Given the description of an element on the screen output the (x, y) to click on. 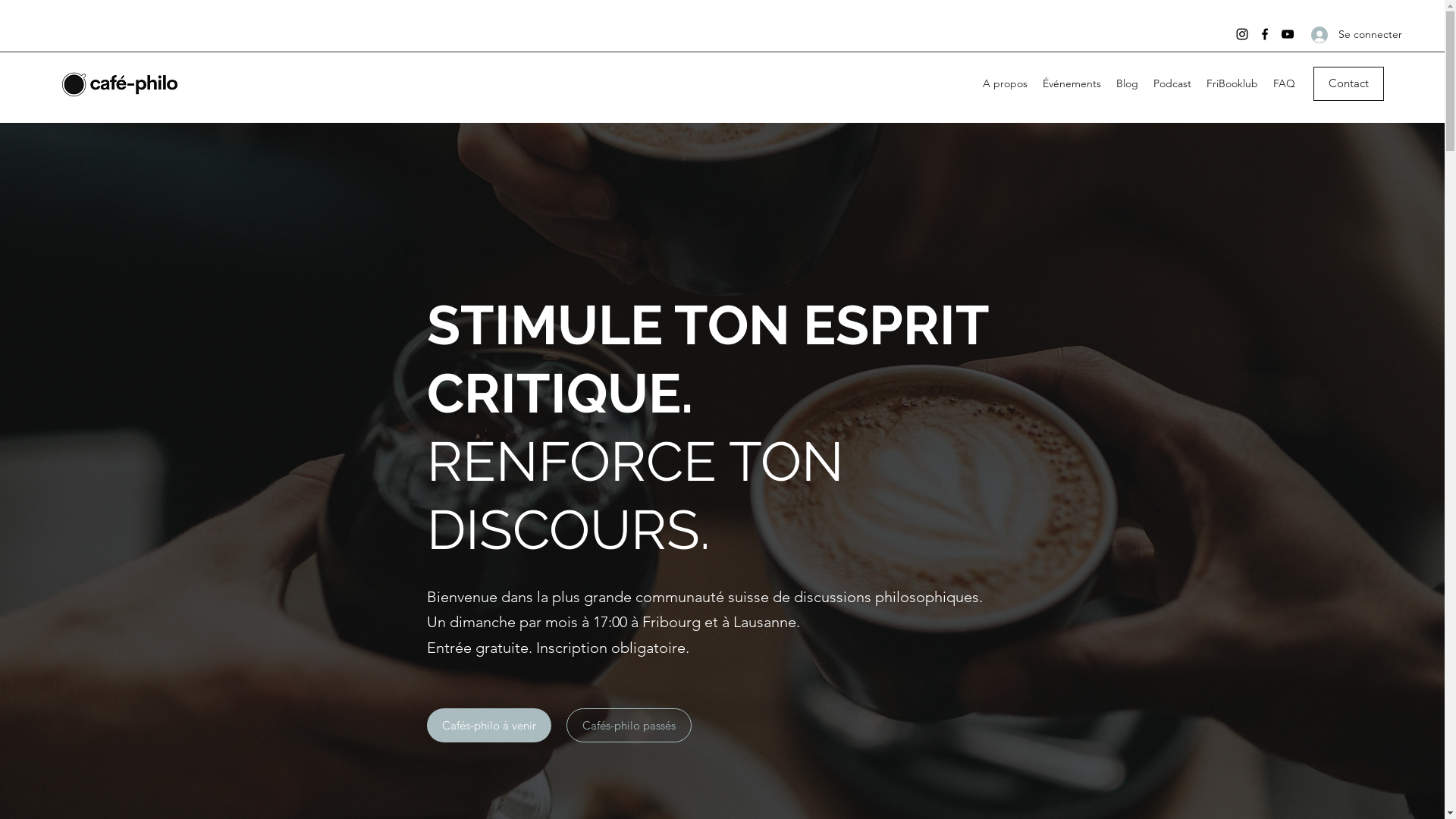
Blog Element type: text (1126, 83)
Se connecter Element type: text (1341, 34)
FriBooklub Element type: text (1231, 83)
A propos Element type: text (1005, 83)
Contact Element type: text (1348, 83)
Podcast Element type: text (1171, 83)
FAQ Element type: text (1283, 83)
